Given the description of an element on the screen output the (x, y) to click on. 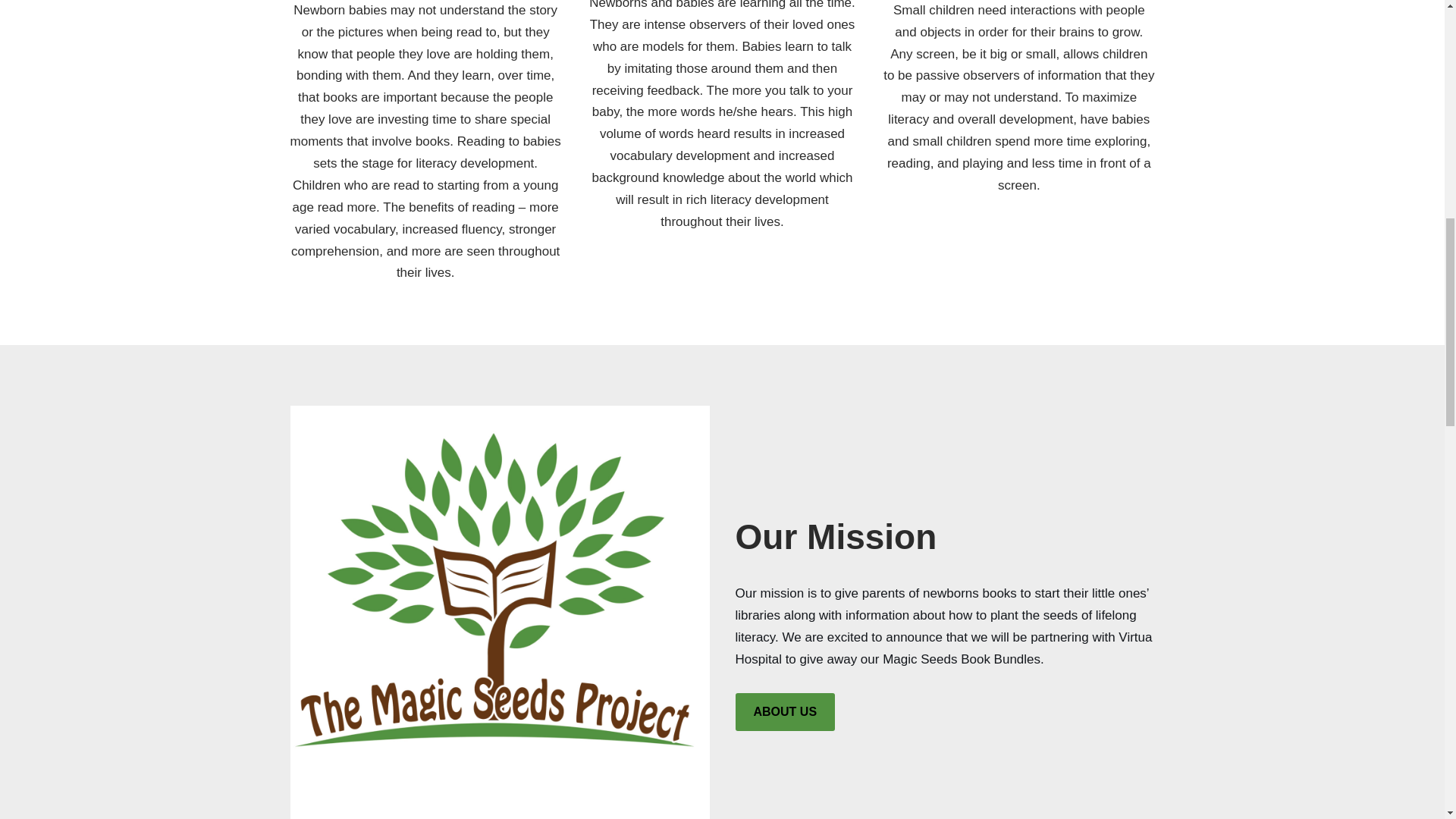
ABOUT US (785, 711)
